Given the description of an element on the screen output the (x, y) to click on. 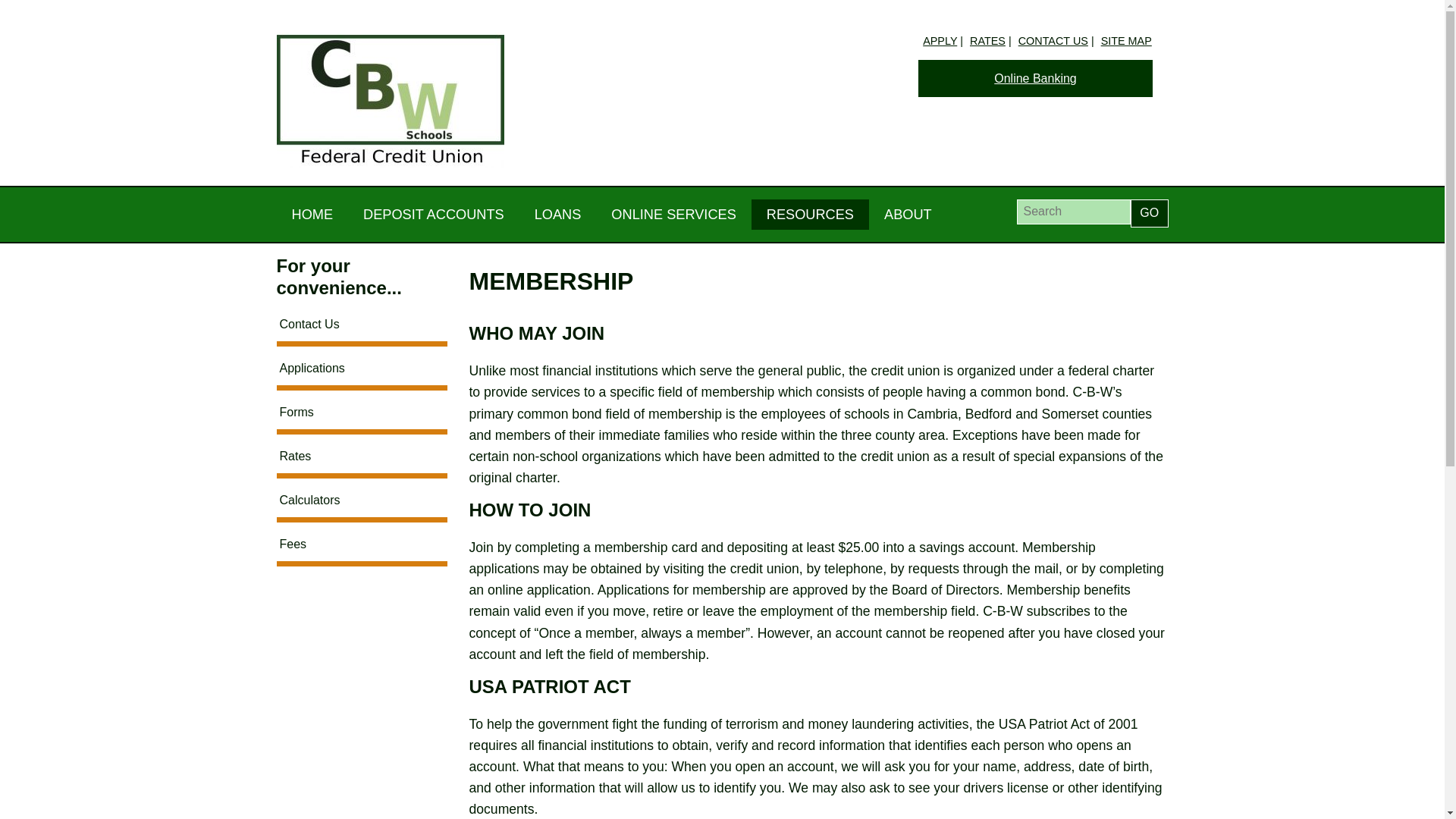
RATES (987, 40)
DEPOSIT ACCOUNTS (433, 214)
RESOURCES (810, 214)
LOANS (557, 214)
APPLY (939, 40)
SITE MAP (1125, 40)
GO (1150, 213)
CONTACT US (1052, 40)
Search (1072, 211)
Online Banking (1035, 78)
ONLINE SERVICES (673, 214)
ABOUT (908, 214)
HOME (311, 214)
